Given the description of an element on the screen output the (x, y) to click on. 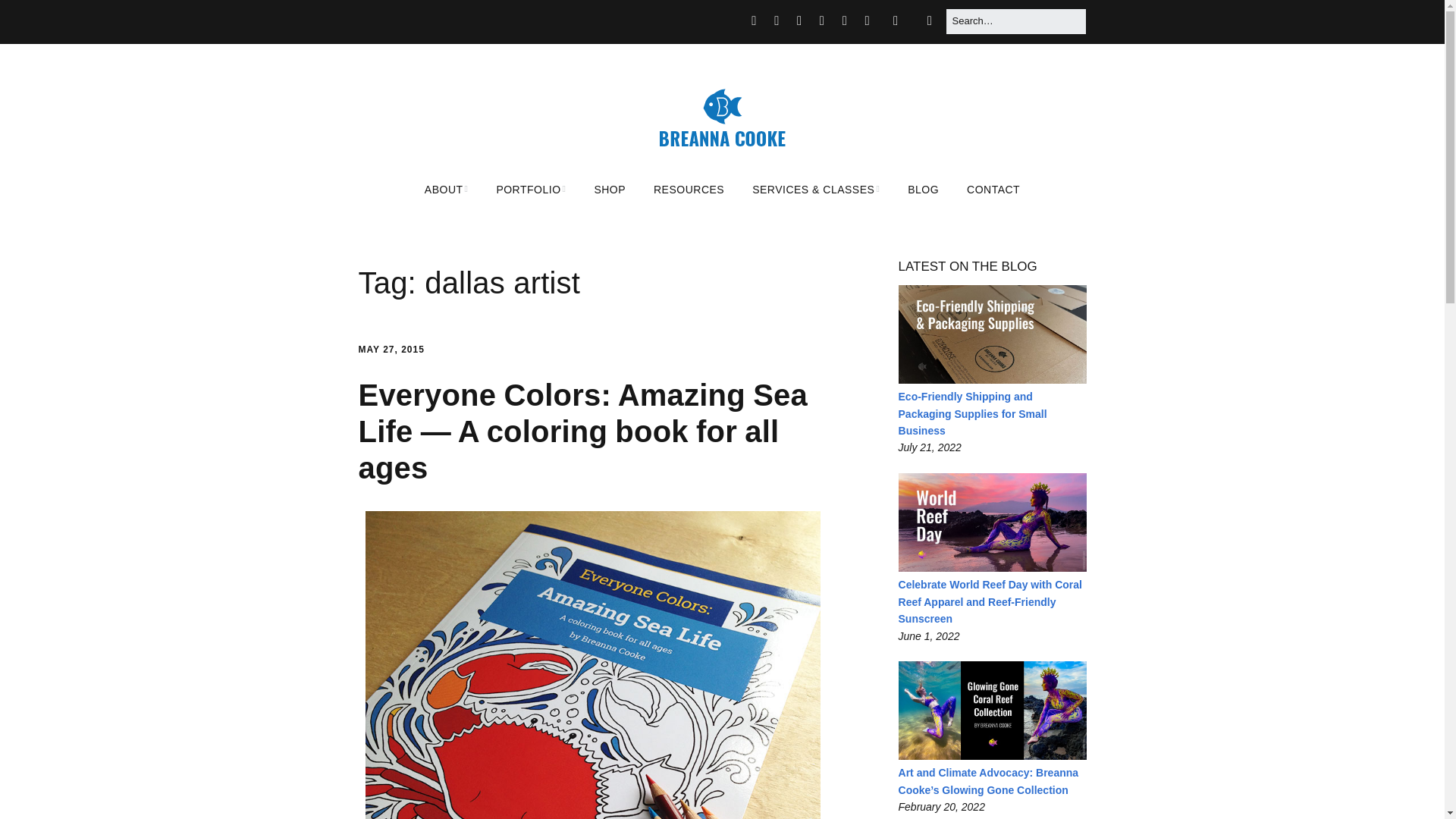
Search (29, 16)
ABOUT (446, 190)
BLOG (922, 190)
MAY 27, 2015 (390, 348)
Press Enter to submit your search (1015, 21)
PORTFOLIO (530, 190)
RESOURCES (689, 190)
SHOP (608, 190)
CONTACT (993, 190)
